Given the description of an element on the screen output the (x, y) to click on. 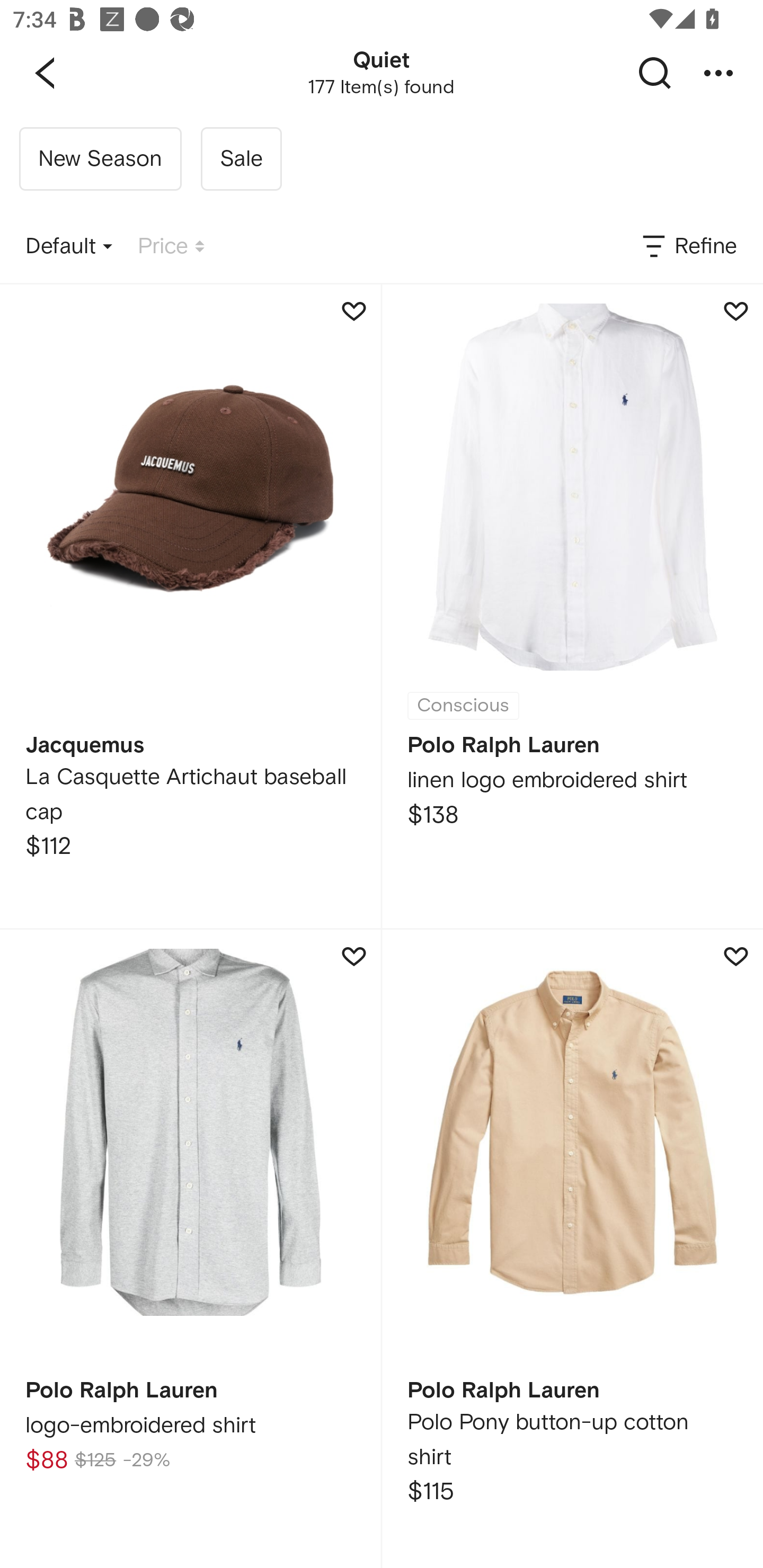
New Season (100, 158)
Sale (240, 158)
Default (68, 246)
Price (171, 246)
Refine (688, 246)
Jacquemus La Casquette Artichaut baseball cap $112 (190, 605)
